Given the description of an element on the screen output the (x, y) to click on. 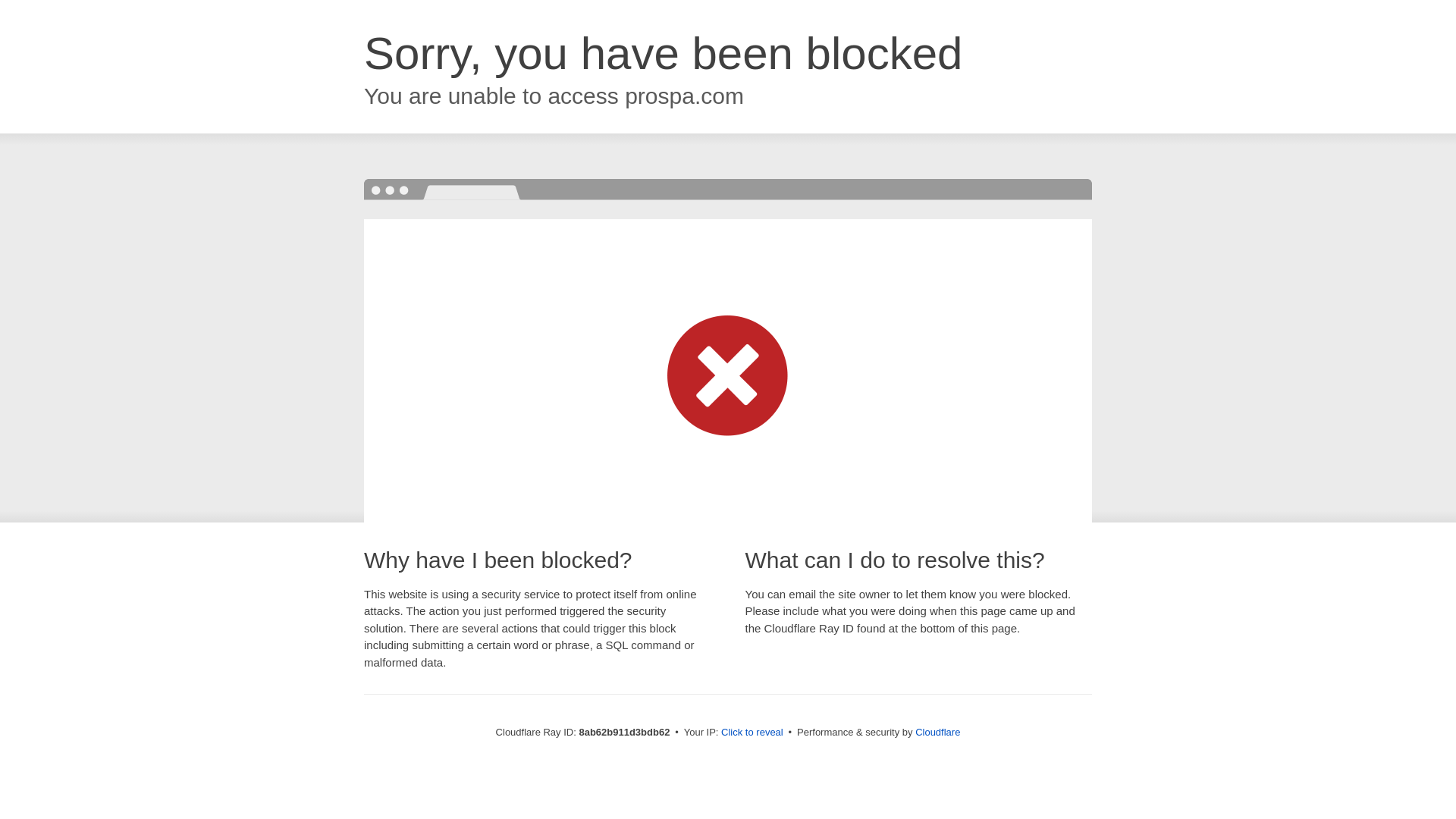
Cloudflare (937, 731)
Click to reveal (751, 732)
